Given the description of an element on the screen output the (x, y) to click on. 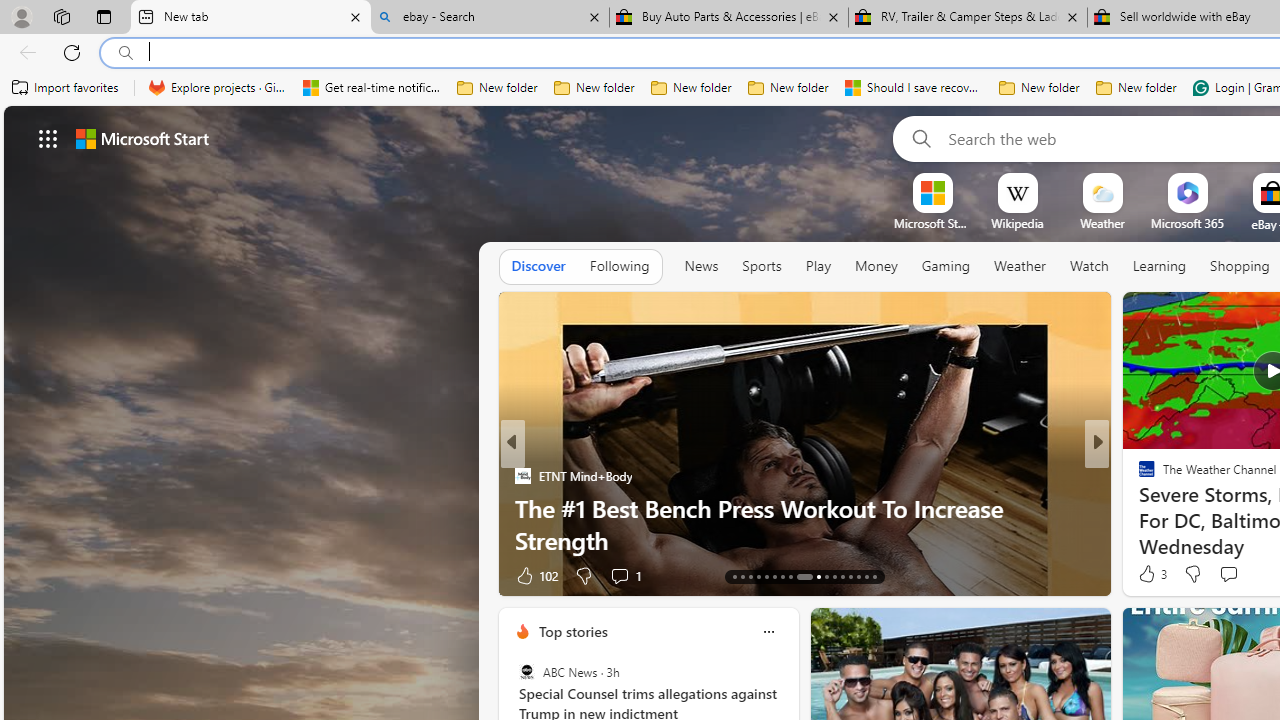
View comments 8 Comment (1229, 575)
View comments 167 Comment (1247, 574)
View comments 167 Comment (1234, 575)
AutomationID: tab-23 (825, 576)
AutomationID: tab-13 (733, 576)
